Given the description of an element on the screen output the (x, y) to click on. 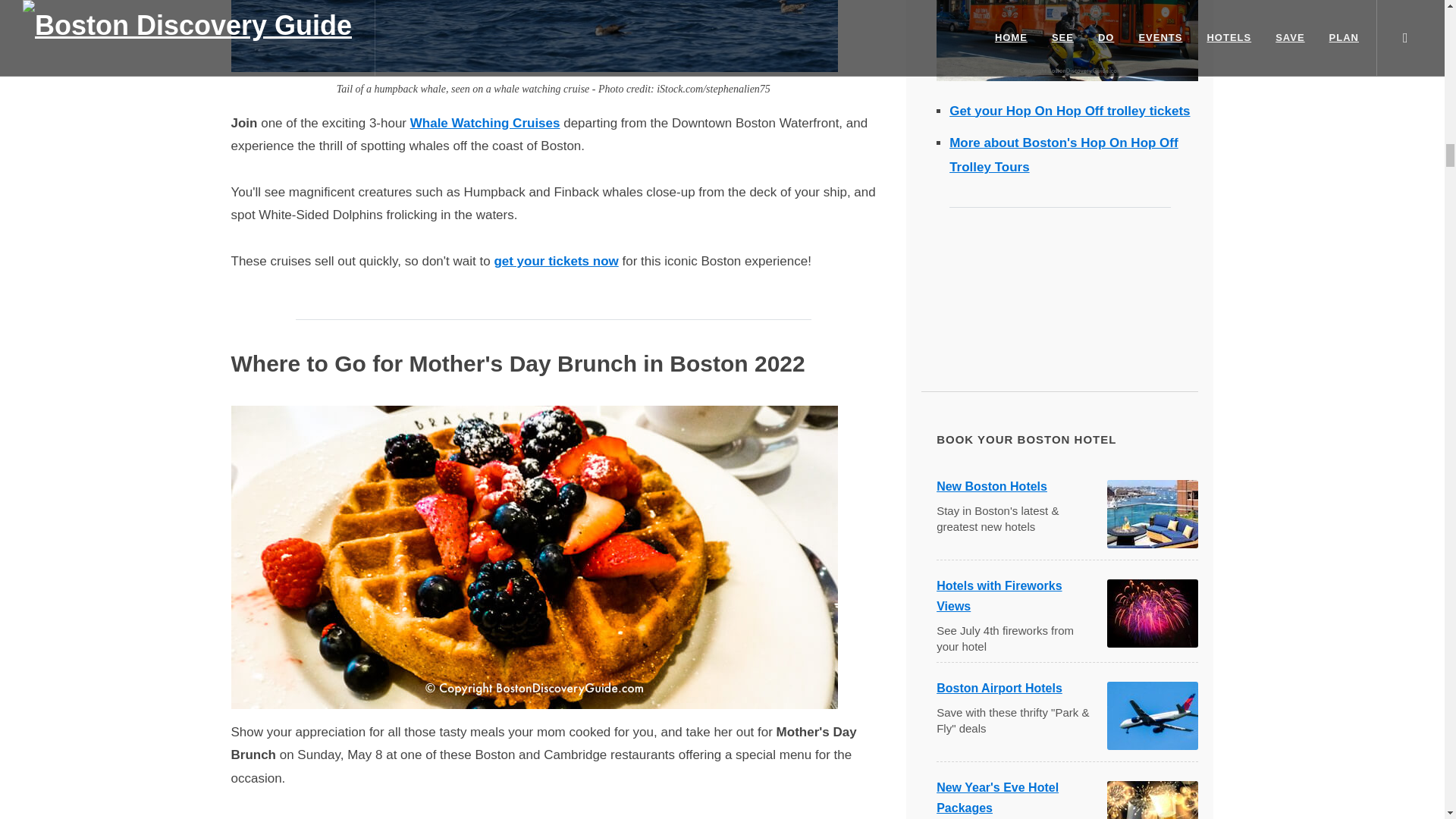
Whale spotted on a Boston whale watching cruise (533, 36)
